Given the description of an element on the screen output the (x, y) to click on. 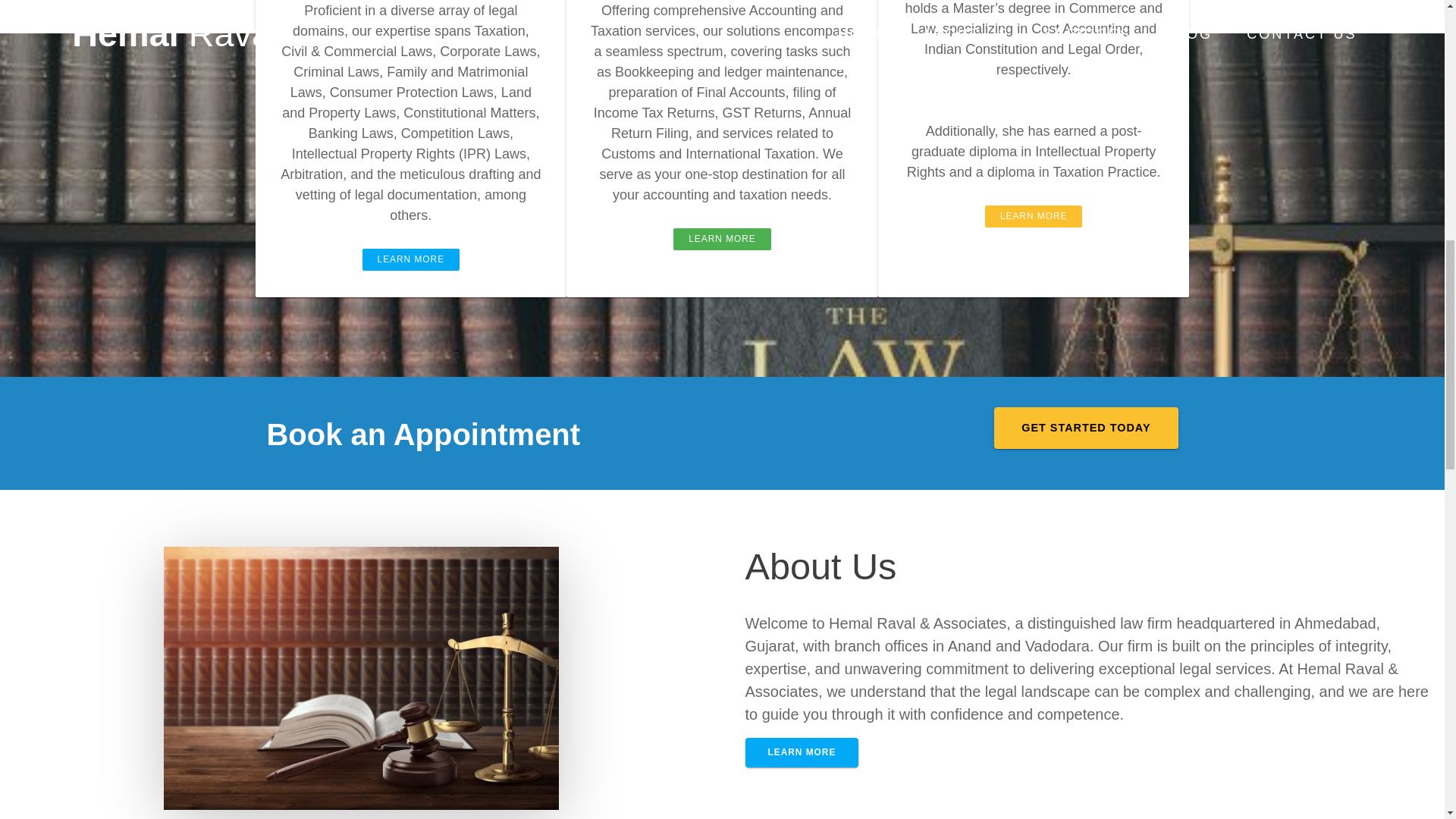
LEARN MORE (411, 259)
LEARN MORE (1034, 216)
LEARN MORE (721, 239)
LEARN MORE (801, 752)
GET STARTED TODAY (1085, 427)
